Given the description of an element on the screen output the (x, y) to click on. 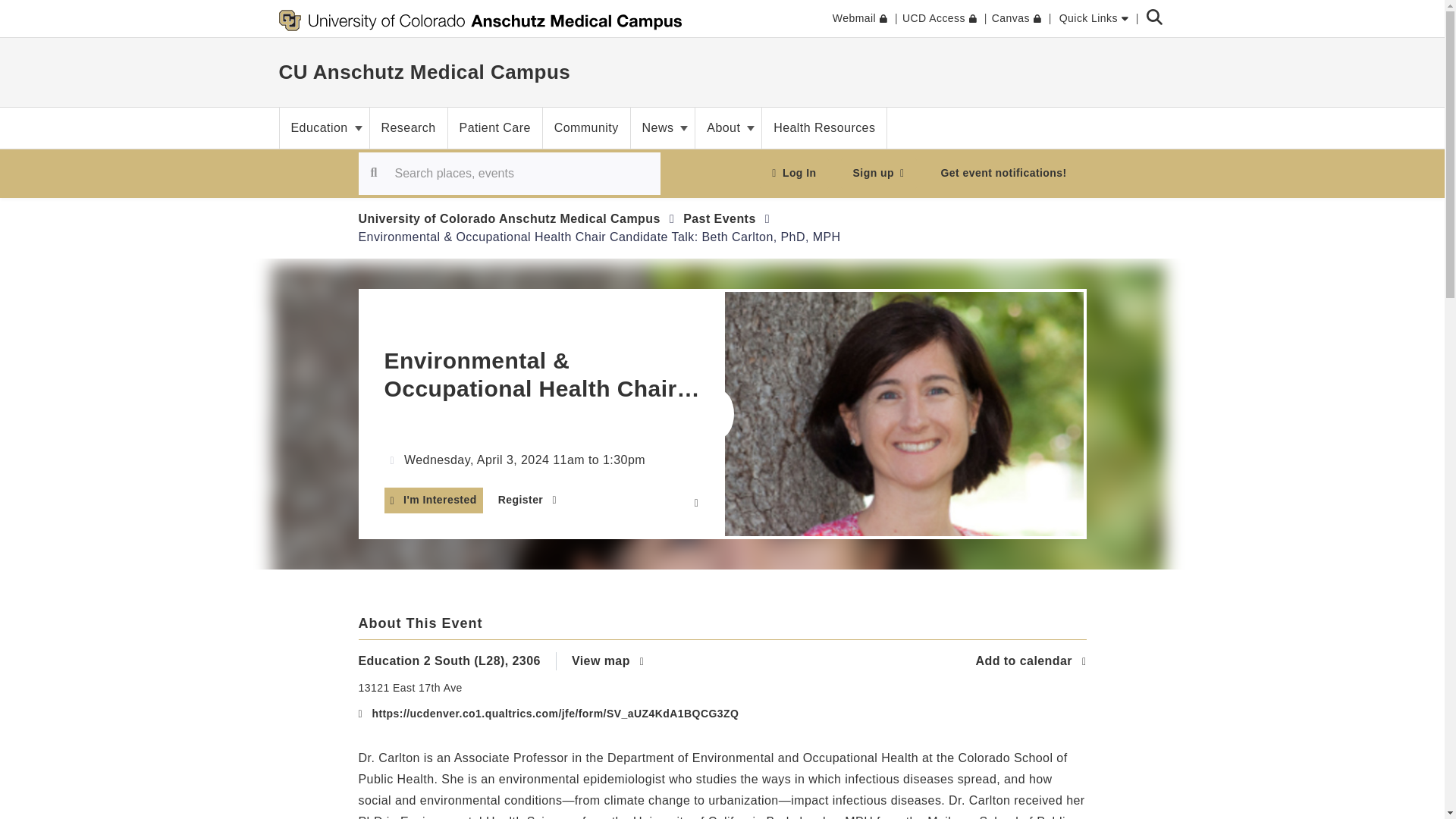
Research (407, 127)
Patient Care (494, 127)
Webmail (859, 18)
Canvas (1016, 18)
CU Anschutz Medical Campus (424, 71)
Quick Links (1093, 18)
Education (323, 127)
UCD Access (939, 18)
